Given the description of an element on the screen output the (x, y) to click on. 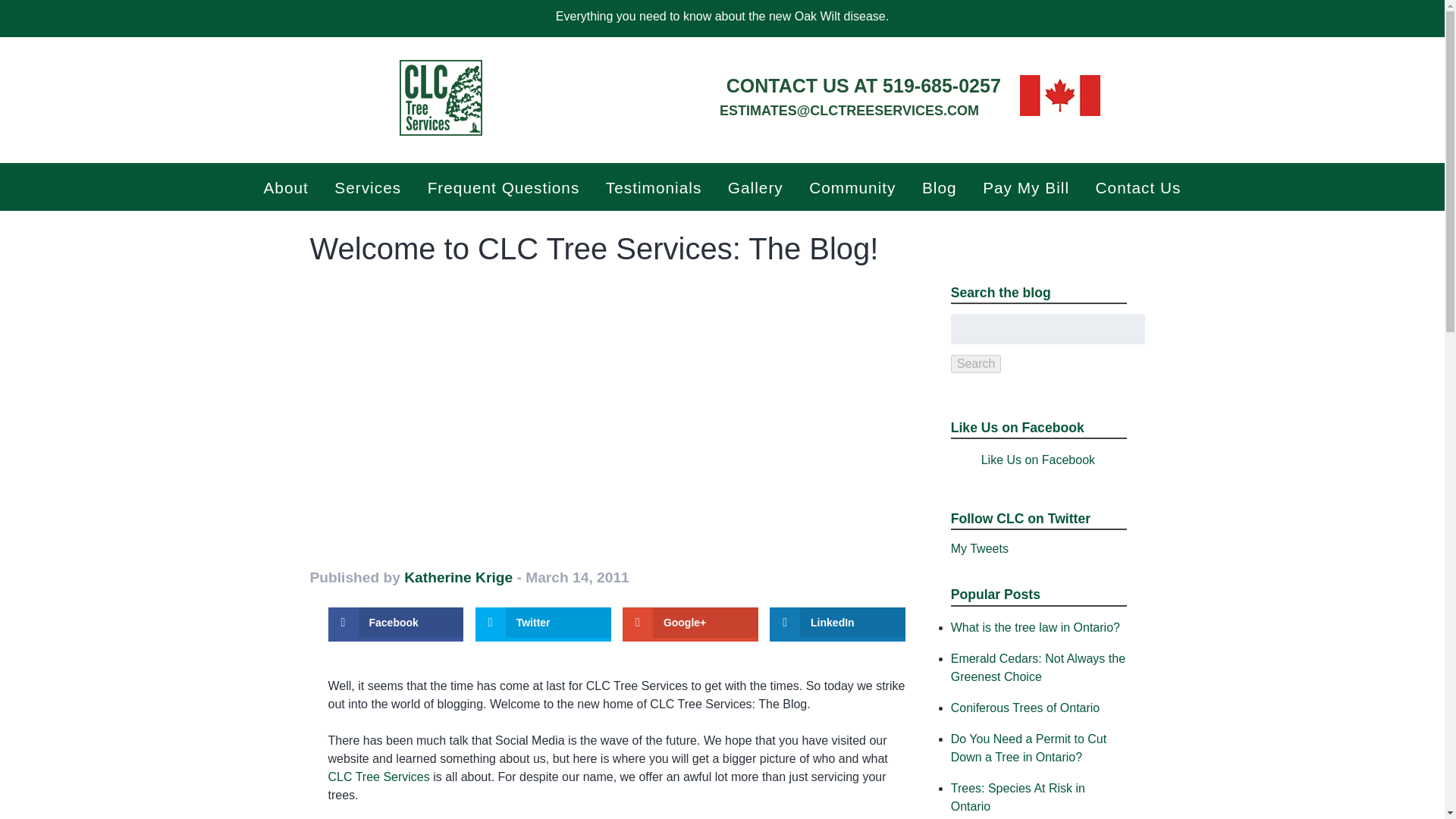
Twitter (543, 622)
Services (368, 186)
Everything you need to know about the new Oak Wilt disease. (722, 15)
Contact Us (1137, 186)
About (285, 186)
Gallery (755, 186)
Community (852, 186)
Blog (939, 186)
Posts by Katherine Krige (458, 577)
CLC Tree Services (378, 776)
